Given the description of an element on the screen output the (x, y) to click on. 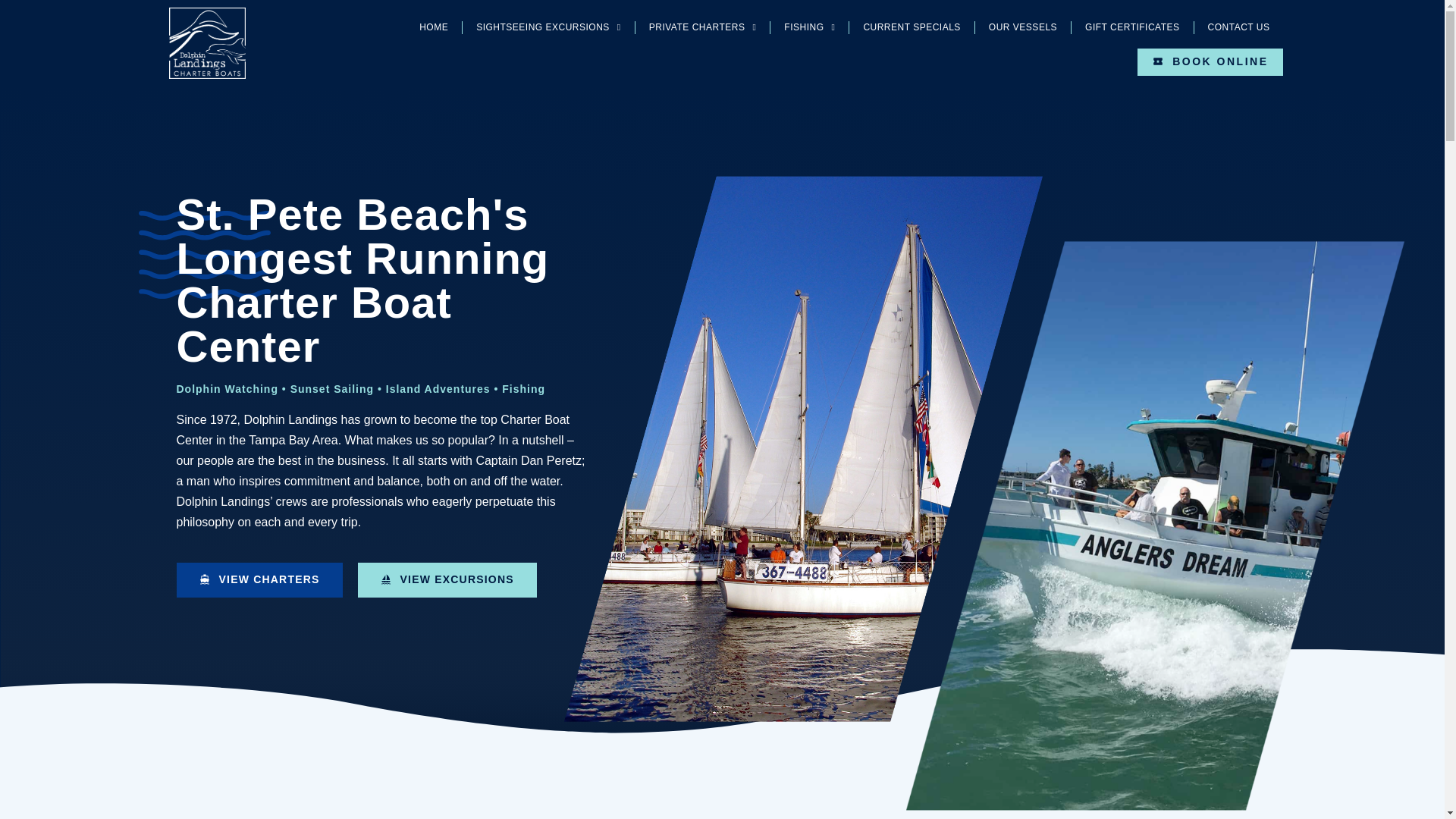
PRIVATE CHARTERS (702, 27)
FISHING (809, 27)
SIGHTSEEING EXCURSIONS (548, 27)
CONTACT US (1238, 27)
HOME (433, 27)
OUR VESSELS (1022, 27)
GIFT CERTIFICATES (1132, 27)
CURRENT SPECIALS (911, 27)
